Given the description of an element on the screen output the (x, y) to click on. 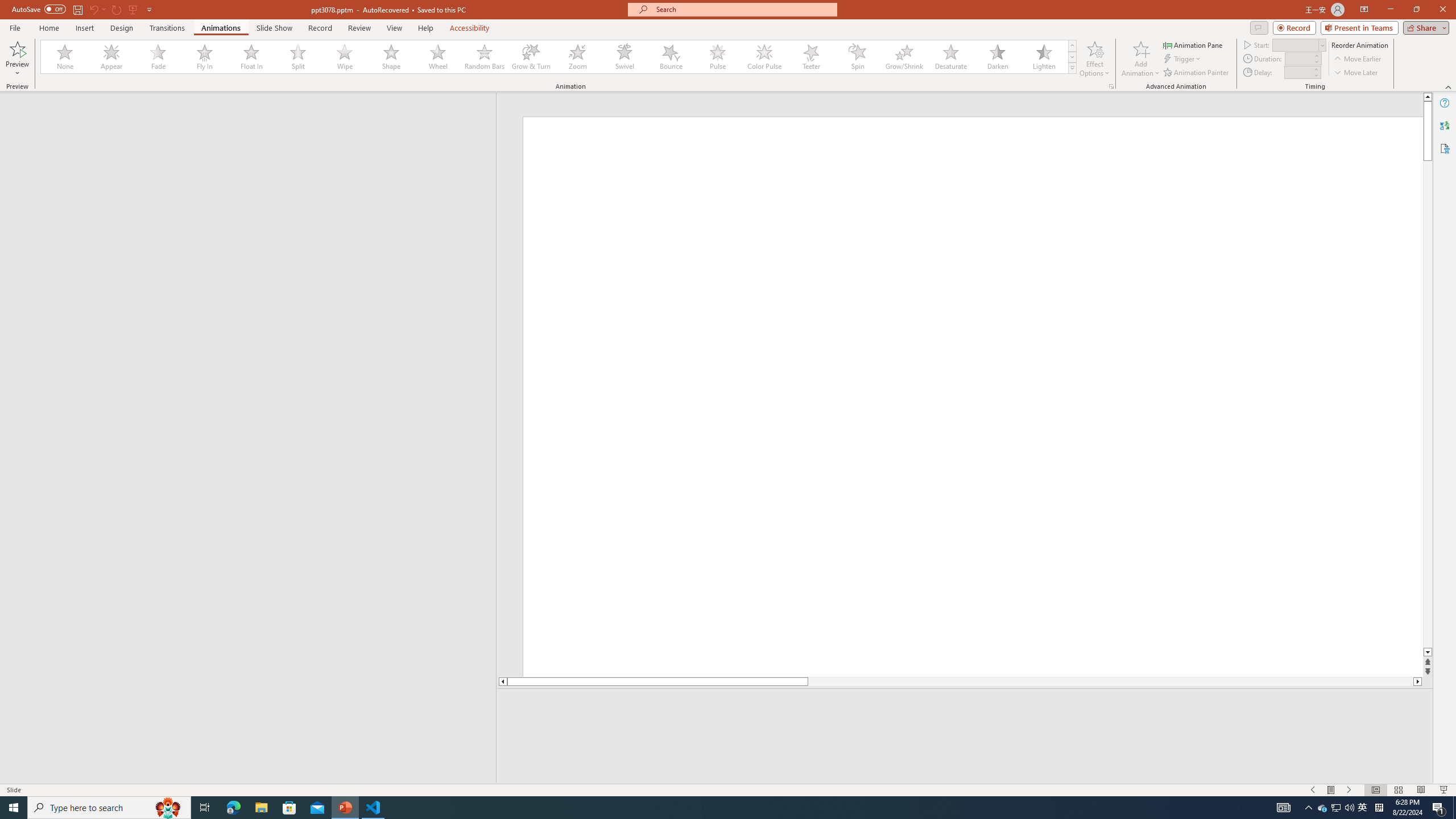
Slide Sorter (1398, 790)
Animation Delay (1297, 72)
More (1315, 69)
Quick Access Toolbar (82, 9)
Outline (252, 114)
Design (122, 28)
Collapse the Ribbon (1448, 86)
Preview (17, 48)
Slide Notes (965, 705)
Shape (391, 56)
Float In (251, 56)
Record (1294, 27)
Normal (1375, 790)
Review (359, 28)
